Given the description of an element on the screen output the (x, y) to click on. 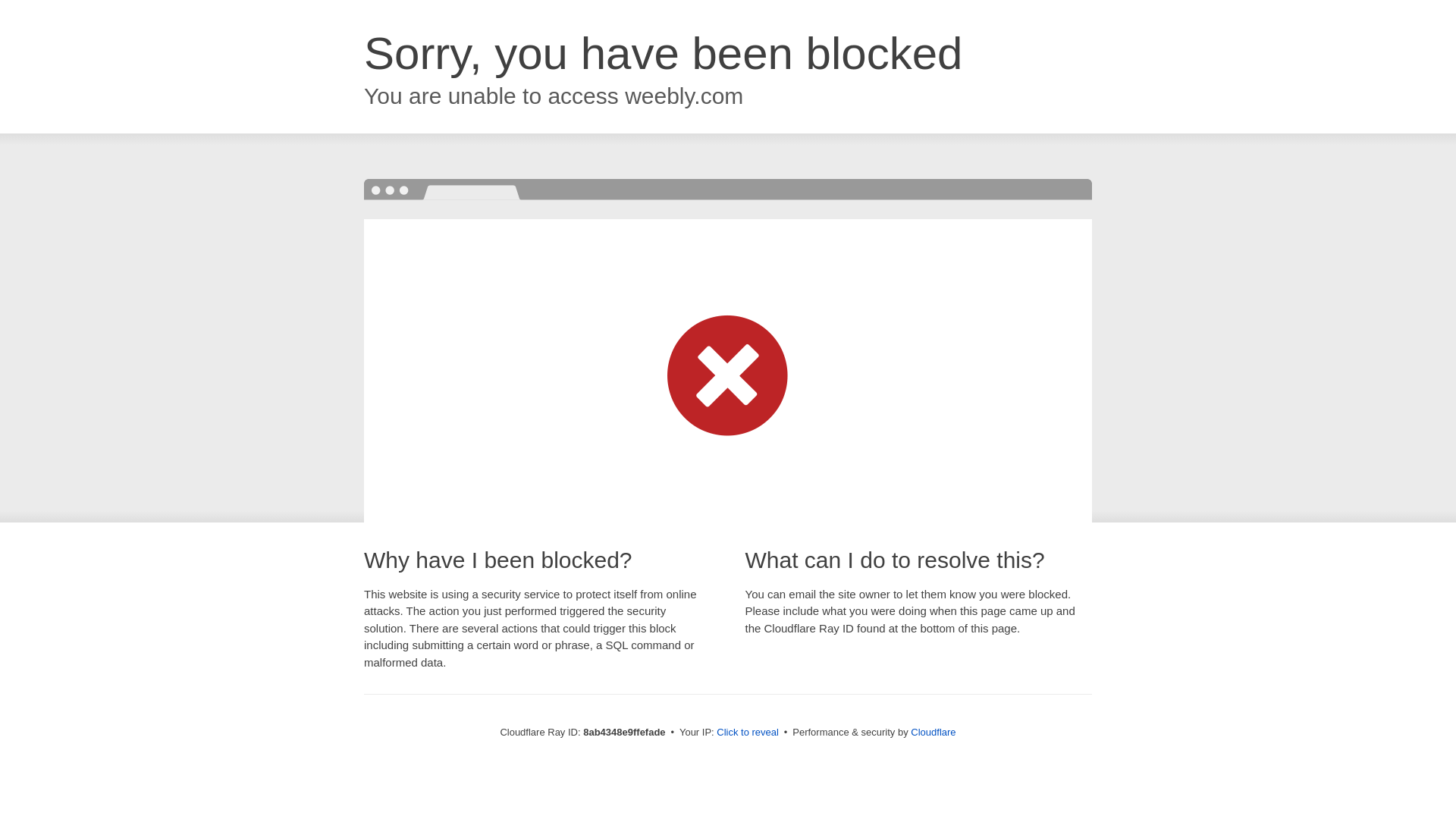
Cloudflare (933, 731)
Click to reveal (747, 732)
